Given the description of an element on the screen output the (x, y) to click on. 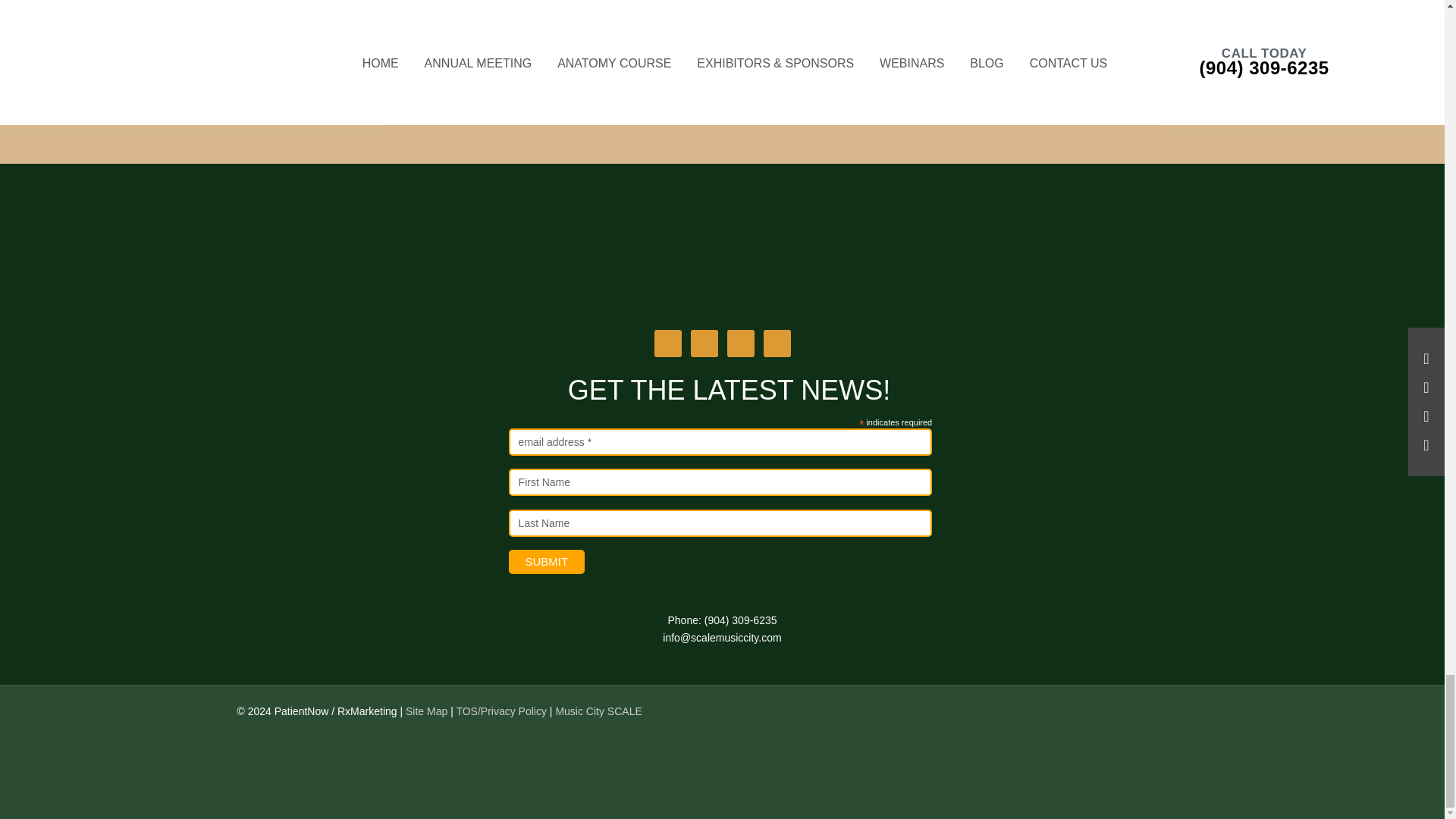
SUBMIT (546, 561)
